Given the description of an element on the screen output the (x, y) to click on. 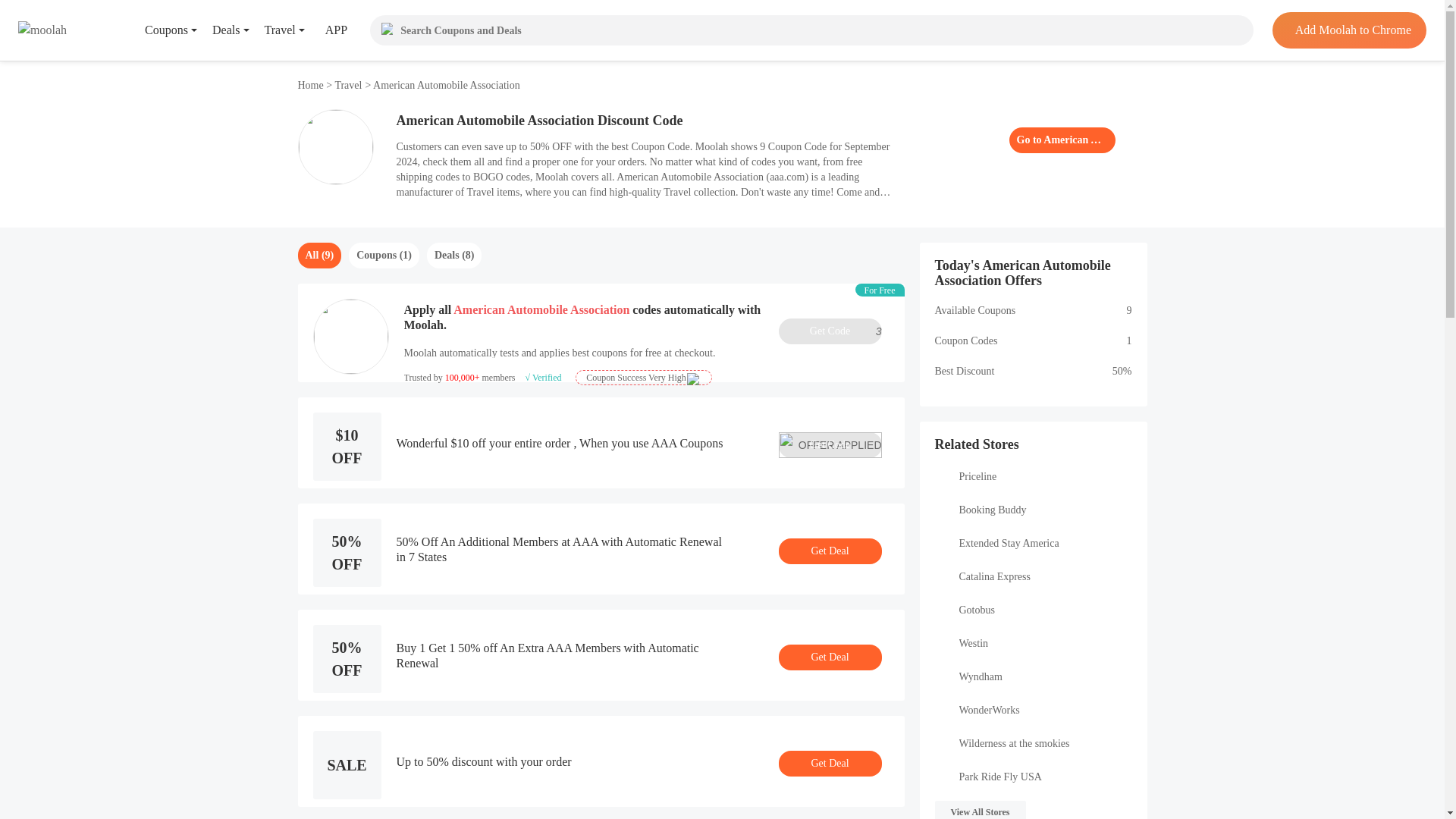
Go to American Automobile Association (828, 330)
APP (1061, 140)
Home (324, 30)
Add Moolah to Chrome (311, 84)
Travel (1348, 30)
